Given the description of an element on the screen output the (x, y) to click on. 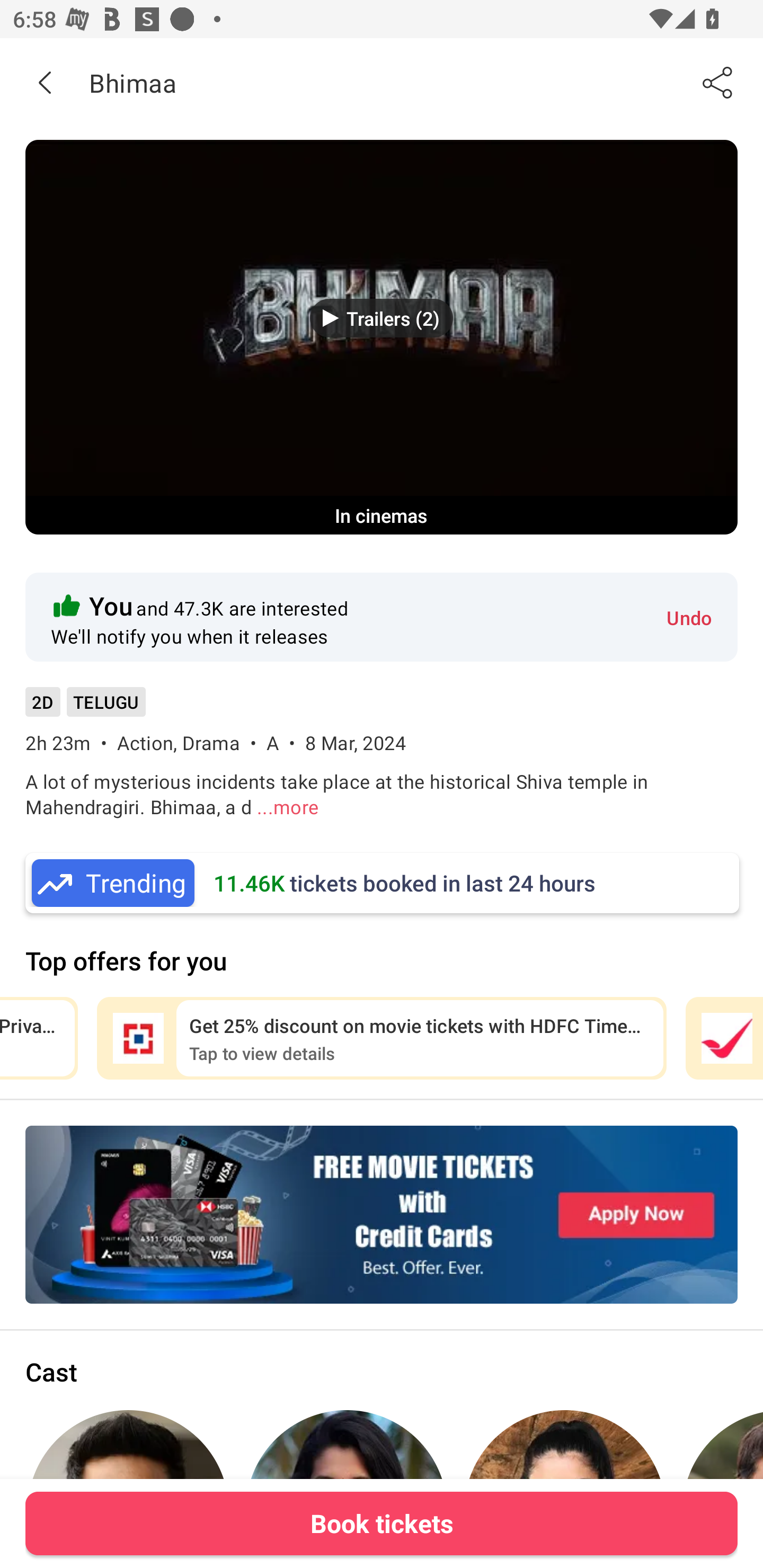
Back (44, 82)
Share (718, 82)
Movie Banner Trailers (2) In cinemas (381, 336)
Trailers (2) (381, 318)
Undo (688, 616)
2D TELUGU (85, 707)
Book tickets (381, 1523)
